Given the description of an element on the screen output the (x, y) to click on. 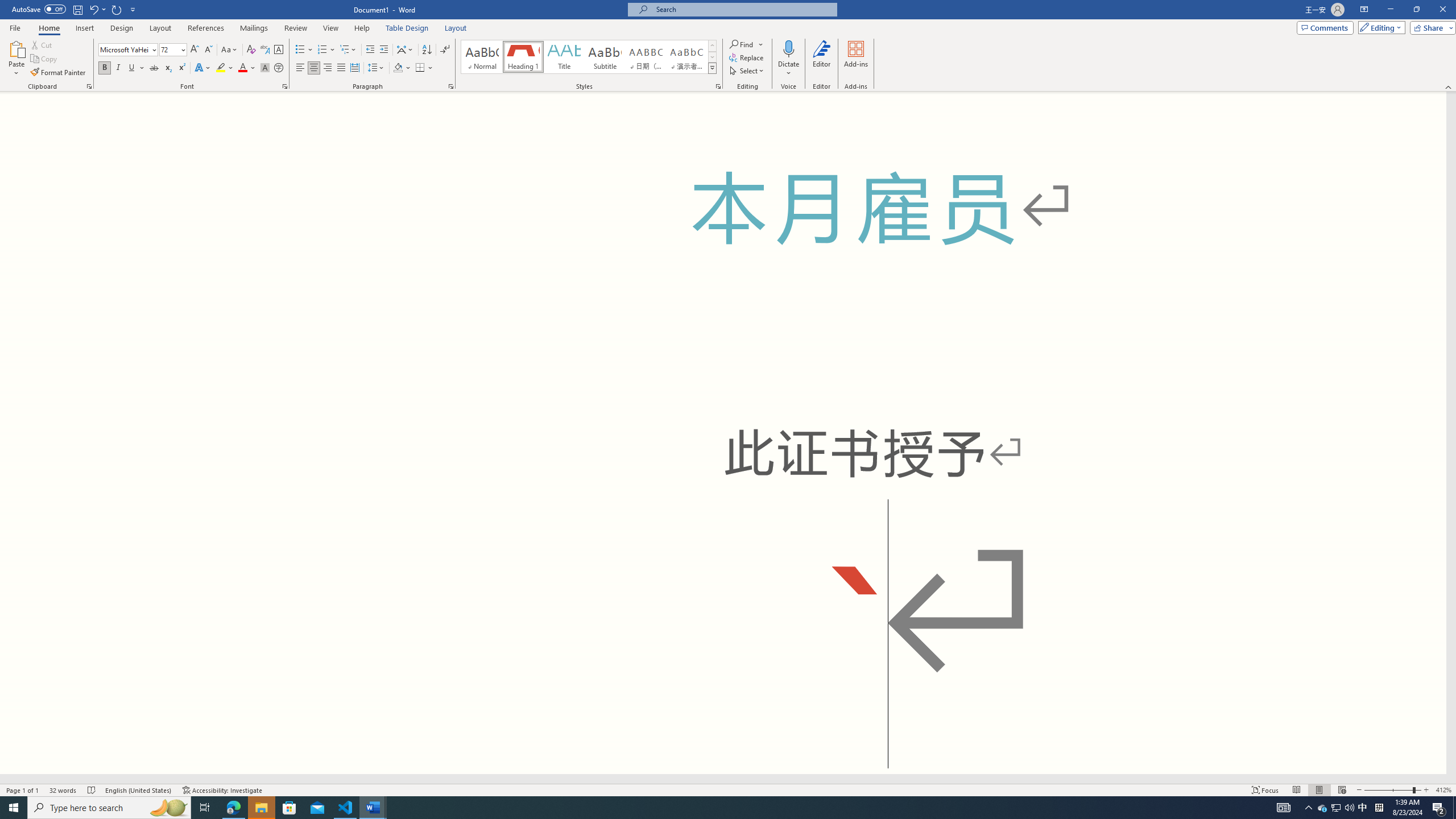
Subtitle (605, 56)
Word Count 32 words (63, 790)
